Given the description of an element on the screen output the (x, y) to click on. 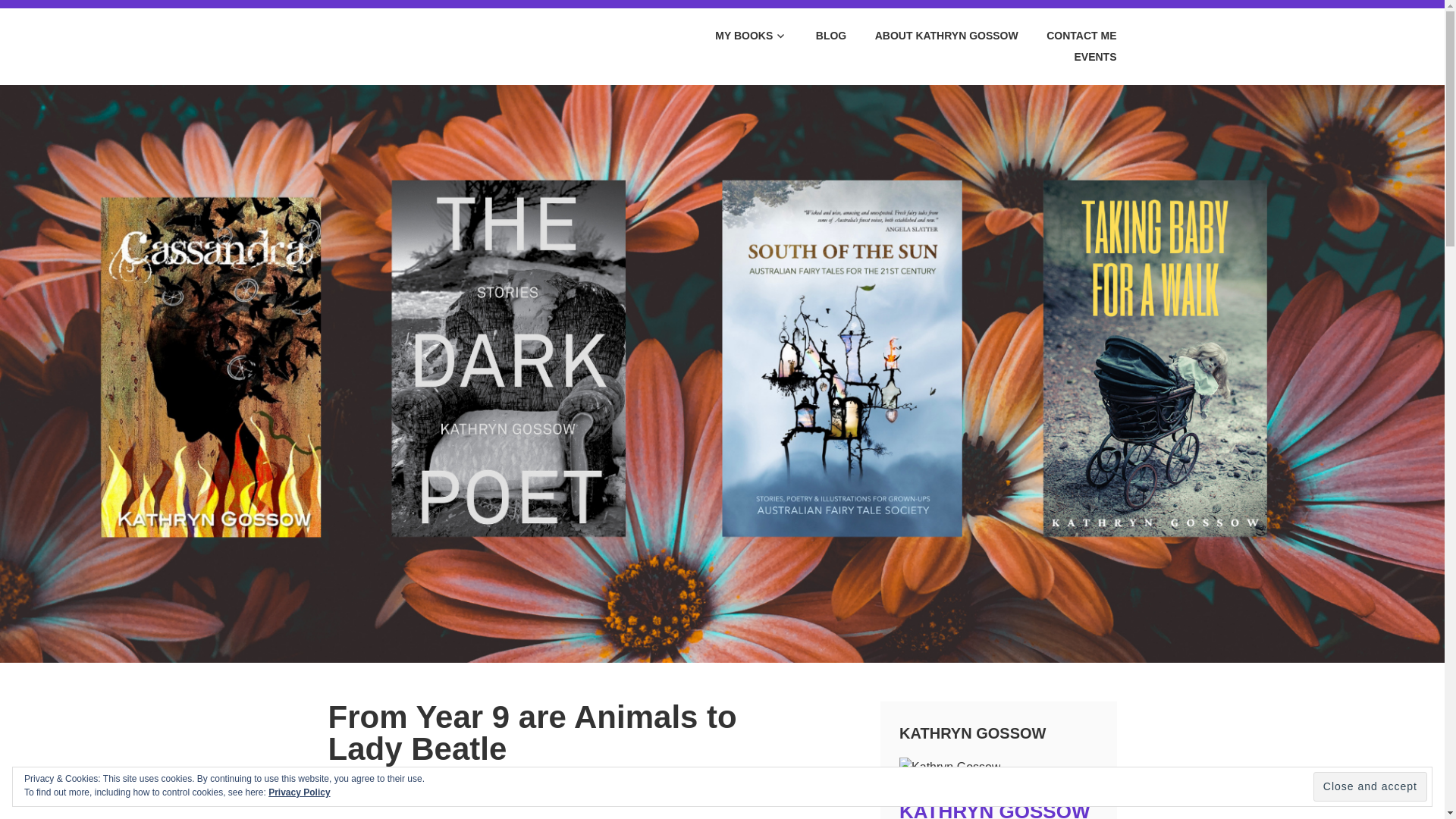
kathryn gossow (446, 779)
ABOUT KATHRYN GOSSOW (932, 35)
CONTACT ME (1069, 35)
MY BOOKS (738, 35)
BLOG (817, 35)
EVENTS (1082, 56)
KATHRYN GOSSOW (994, 809)
KATHRYN GOSSOW (480, 62)
Close and accept (1369, 786)
may 28, 2017 (359, 779)
